Given the description of an element on the screen output the (x, y) to click on. 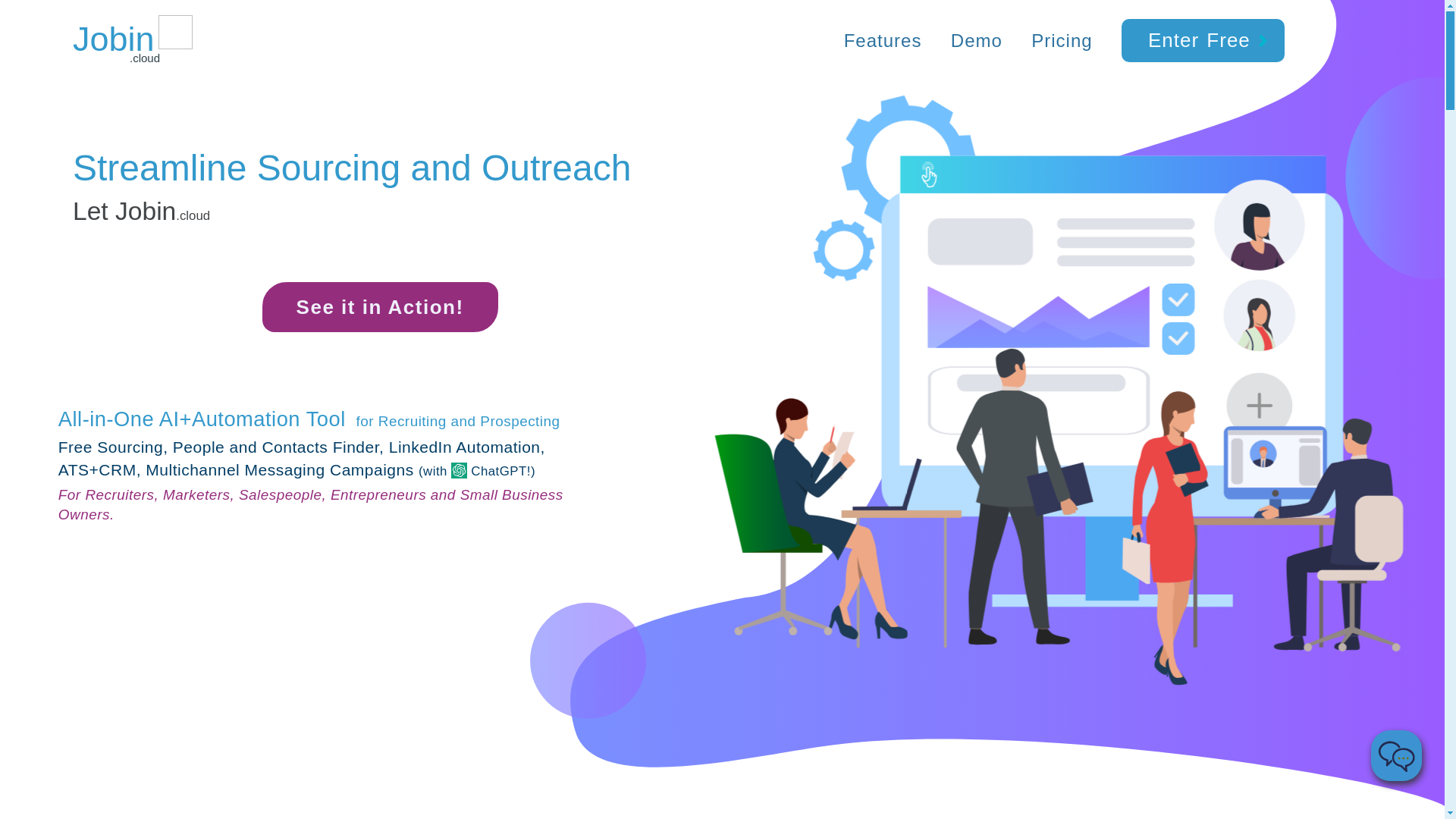
Enter Free (1202, 39)
Demo (976, 40)
Pricing (1061, 40)
See it in Action! (379, 306)
